Given the description of an element on the screen output the (x, y) to click on. 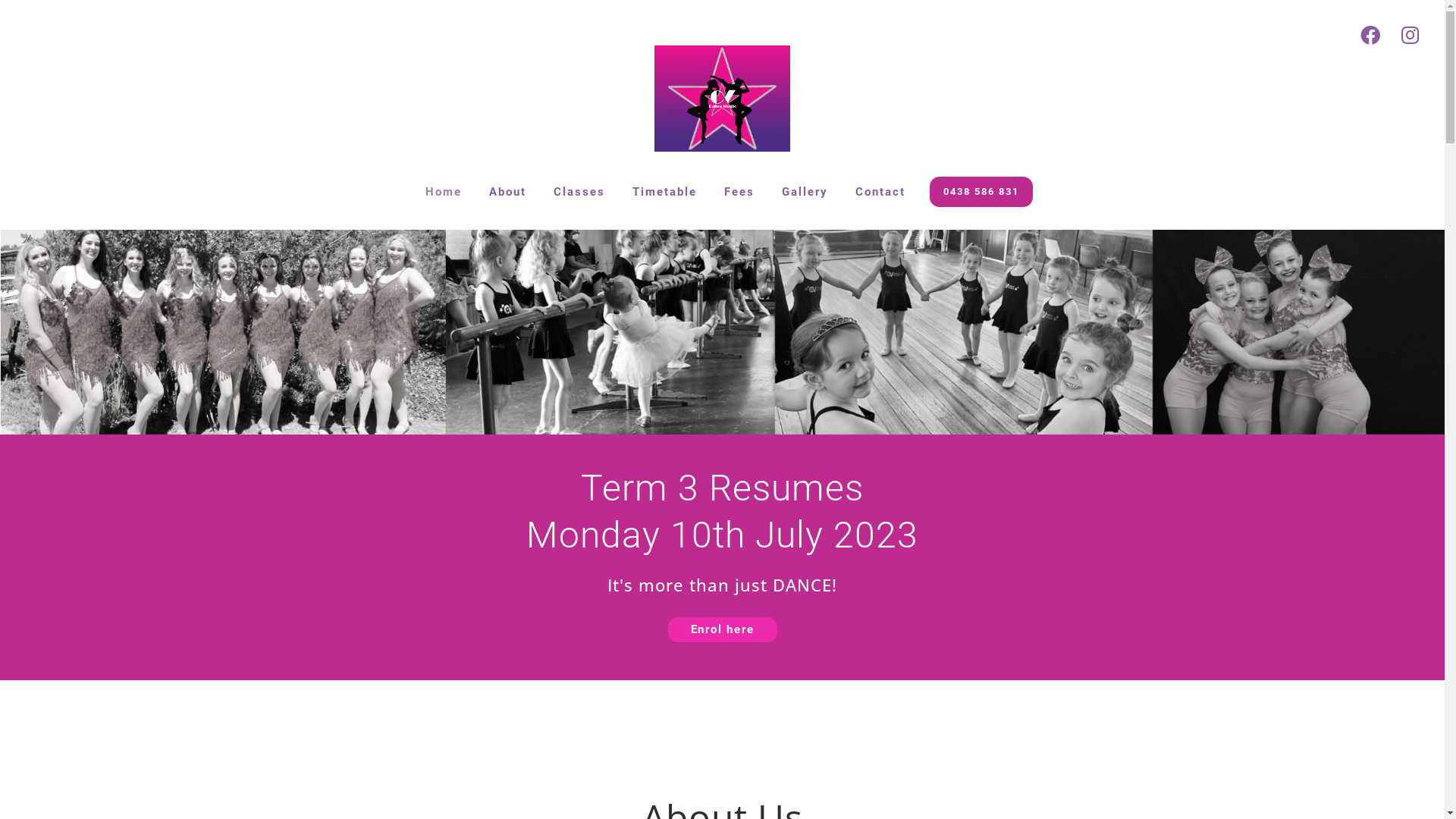
Home Element type: text (443, 191)
Facebook Element type: text (1370, 34)
Enrol here Element type: text (721, 629)
Timetable Element type: text (664, 191)
Classes Element type: text (578, 191)
0438 586 831 Element type: text (980, 191)
Fees Element type: text (739, 191)
Contact Element type: text (880, 191)
Gallery Element type: text (804, 191)
Instagram Element type: text (1409, 34)
About Element type: text (507, 191)
